Given the description of an element on the screen output the (x, y) to click on. 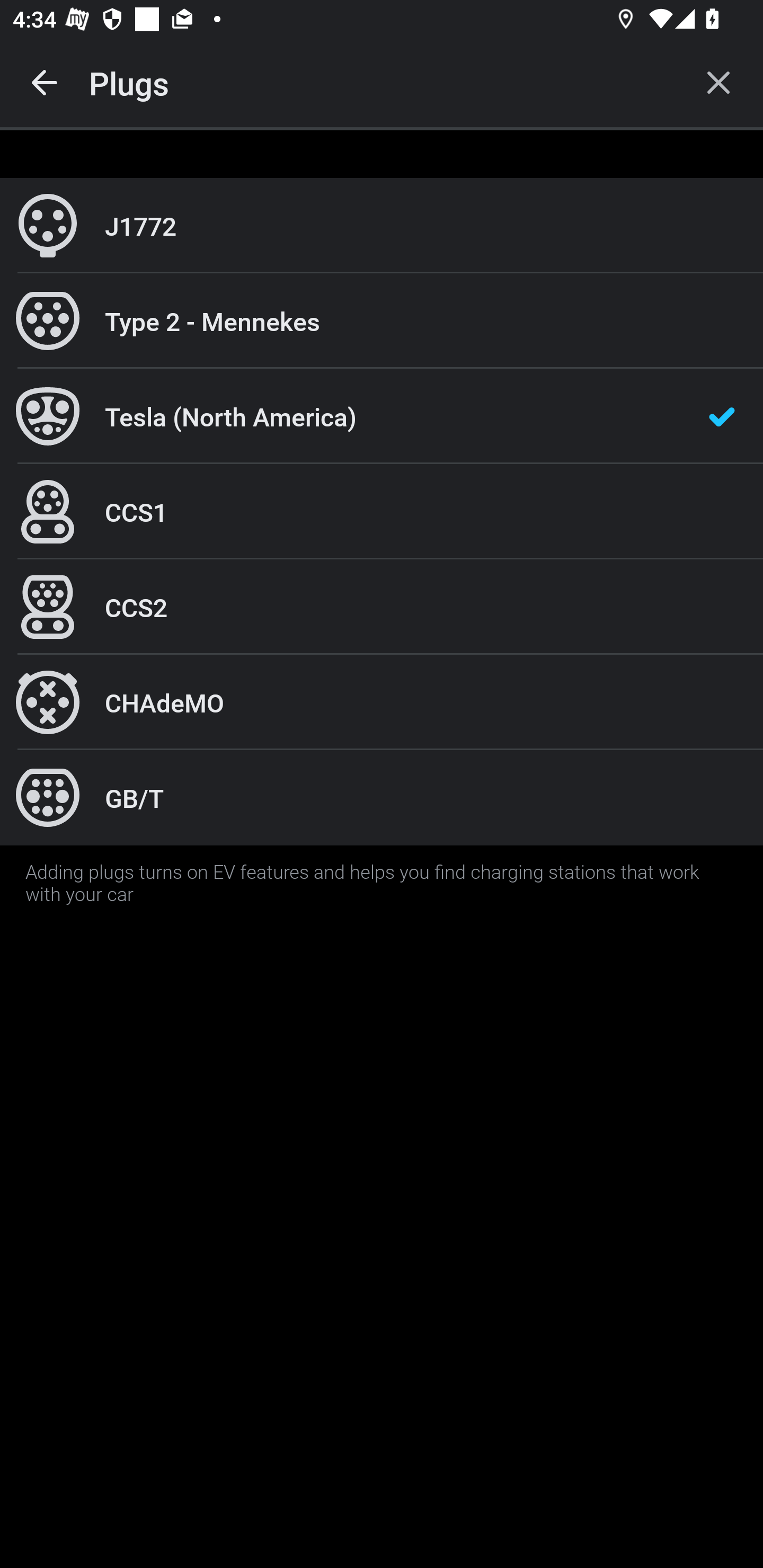
J1772 (381, 225)
Type 2 - Mennekes (381, 320)
Tesla (North America) (381, 416)
CCS1 (381, 511)
CCS2 (381, 607)
CHAdeMO (381, 702)
GB/T (381, 797)
ACTION_CELL_ICON Shut off ACTION_CELL_TEXT (381, 891)
